Given the description of an element on the screen output the (x, y) to click on. 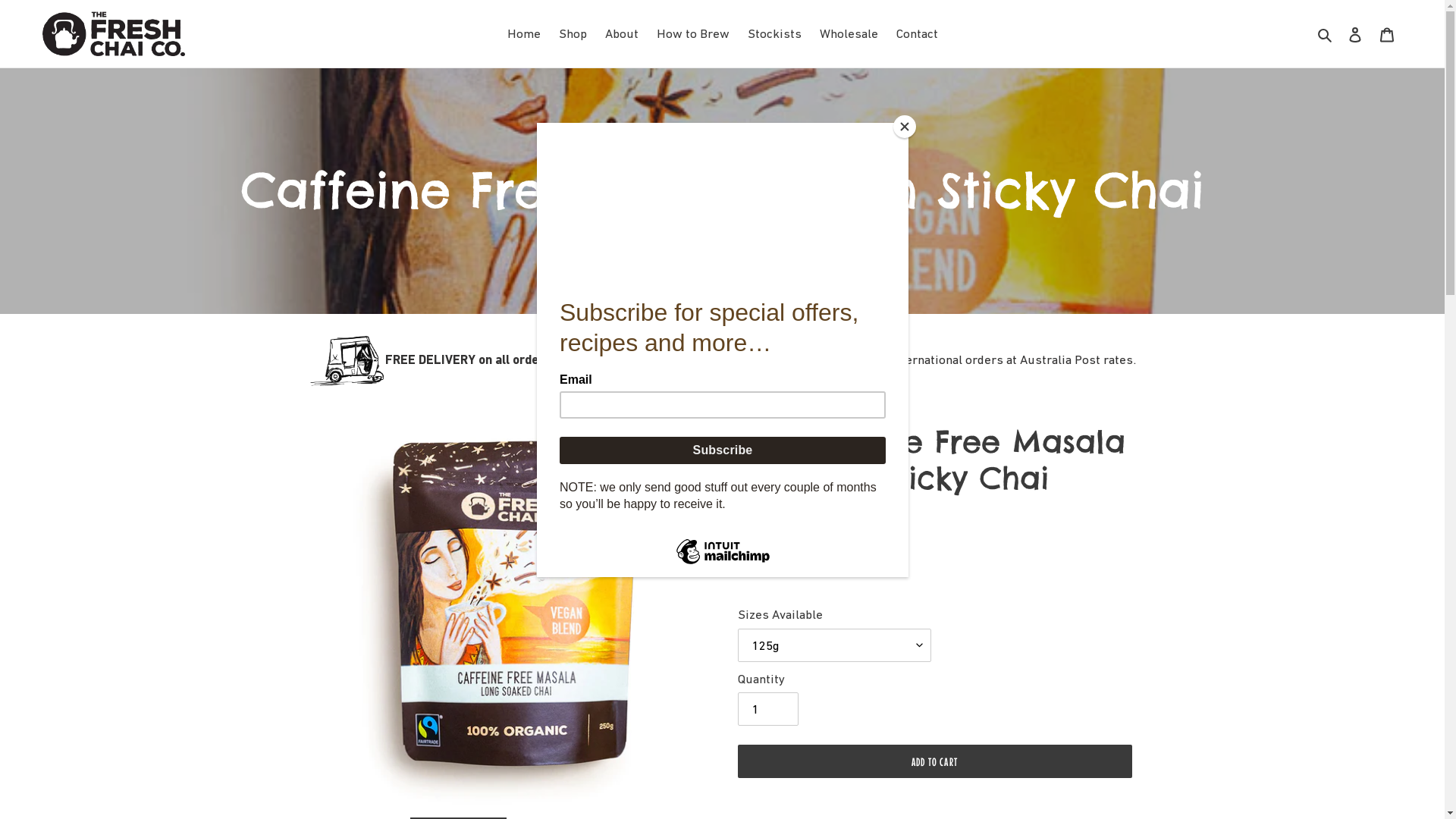
Shop Element type: text (571, 33)
Contact Element type: text (916, 33)
ADD TO CART Element type: text (934, 761)
How to Brew Element type: text (693, 33)
Cart Element type: text (1386, 33)
Wholesale Element type: text (847, 33)
Stockists Element type: text (774, 33)
About Element type: text (621, 33)
Home Element type: text (522, 33)
Log in Element type: text (1355, 33)
Search Element type: text (1325, 33)
